Given the description of an element on the screen output the (x, y) to click on. 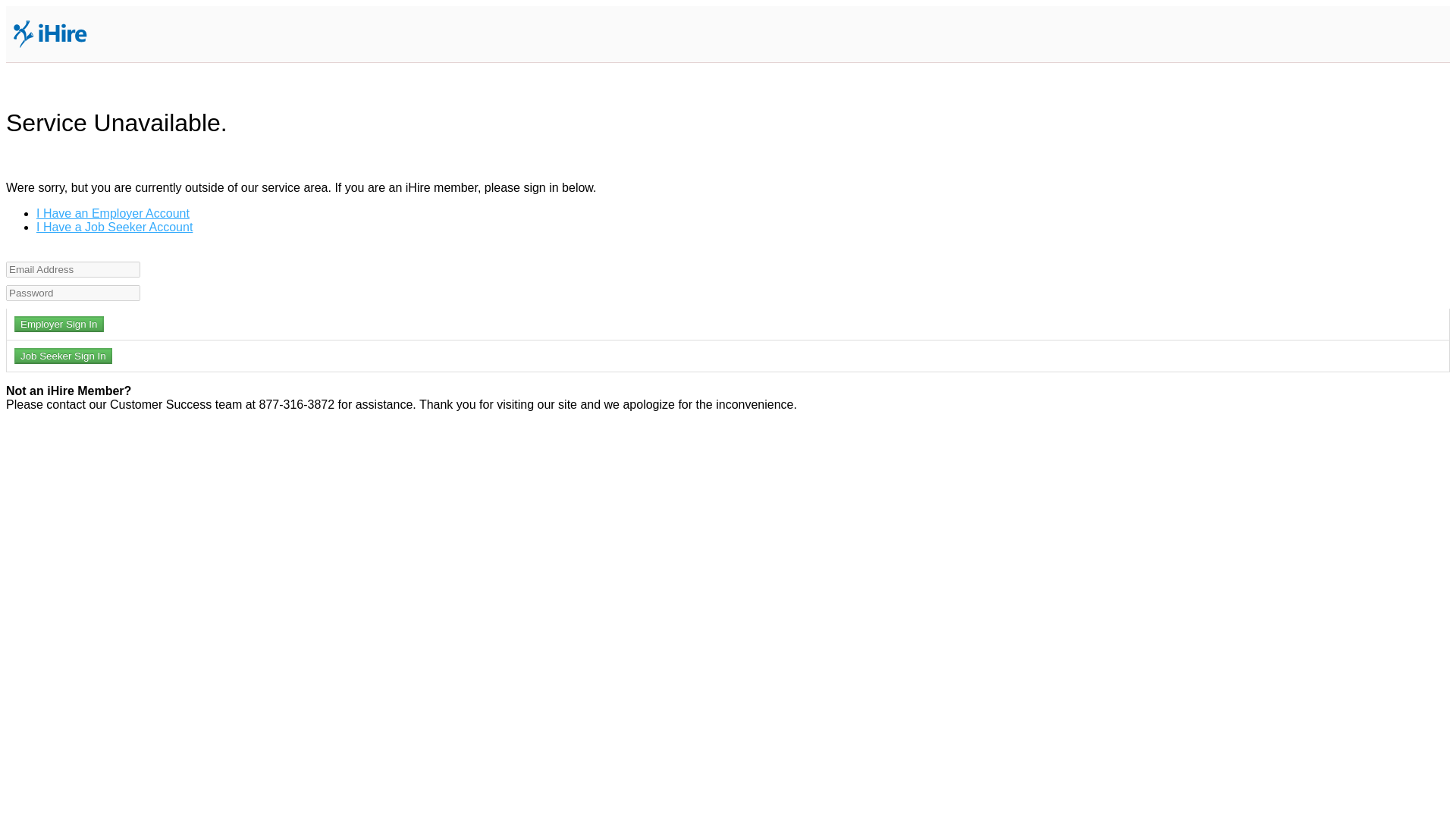
I Have an Employer Account (112, 213)
Job Seeker Sign In (63, 355)
I Have a Job Seeker Account (114, 226)
Employer Sign In (58, 324)
